Given the description of an element on the screen output the (x, y) to click on. 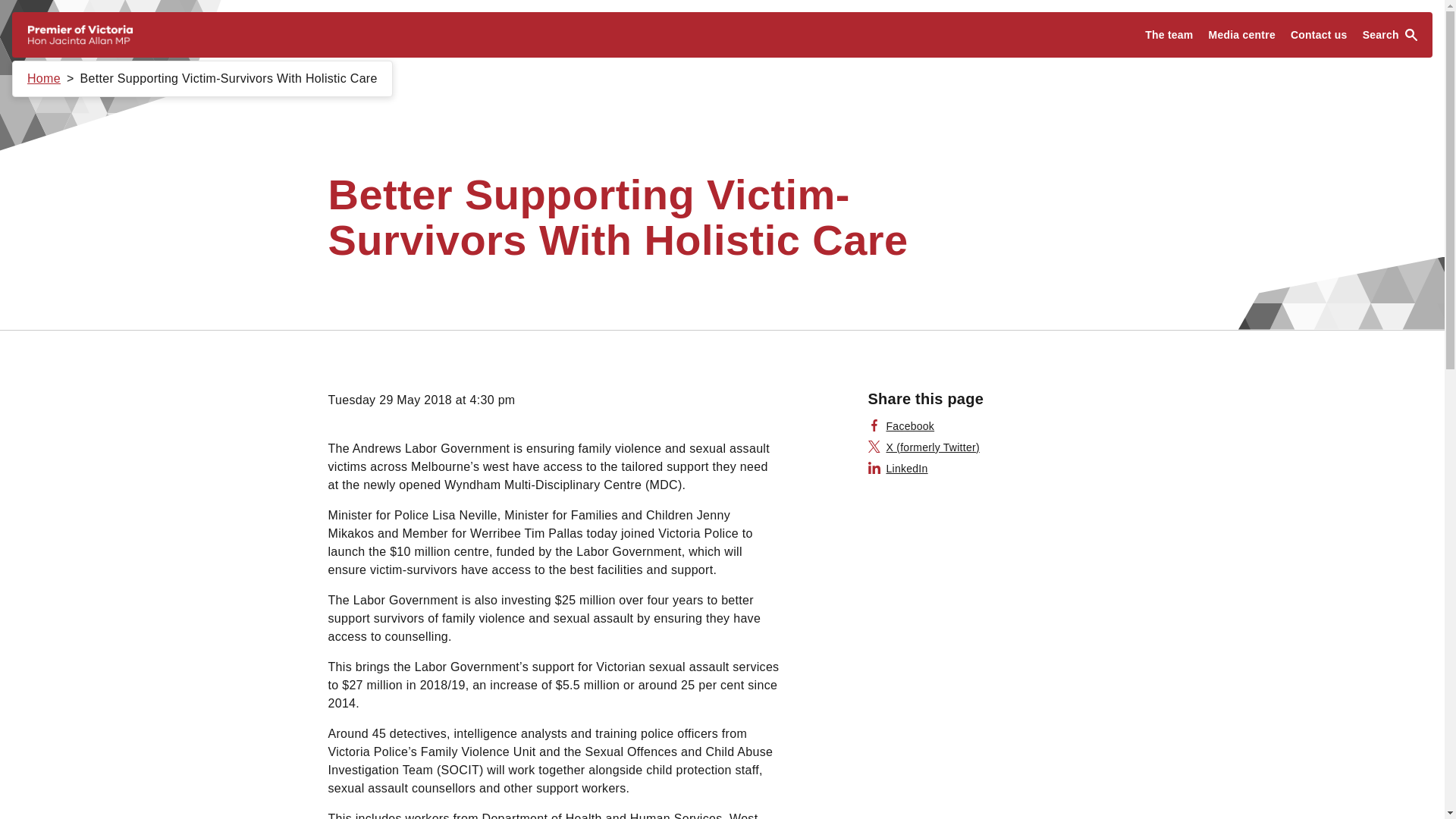
Facebook (900, 426)
Media centre (1241, 34)
Home (44, 78)
Contact us (1318, 34)
The team (1168, 34)
LinkedIn (897, 468)
